Given the description of an element on the screen output the (x, y) to click on. 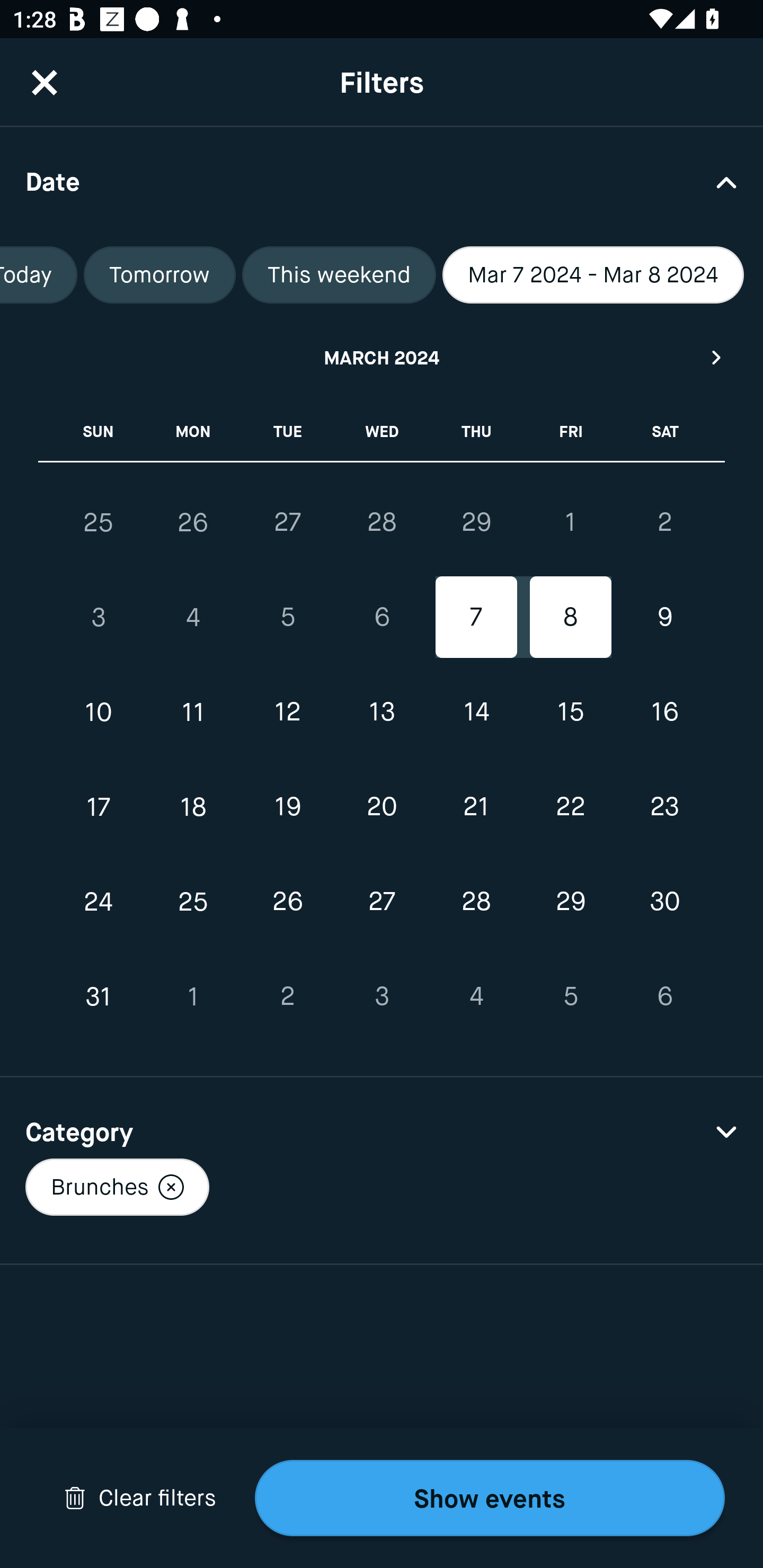
CloseButton (44, 82)
Date Drop Down Arrow (381, 181)
Tomorrow (159, 274)
This weekend (338, 274)
Mar 7 2024 - Mar 8 2024 (592, 274)
Next (717, 357)
25 (98, 522)
26 (192, 522)
27 (287, 522)
28 (381, 522)
29 (475, 522)
1 (570, 522)
2 (664, 522)
3 (98, 617)
4 (192, 617)
5 (287, 617)
6 (381, 617)
7 (475, 617)
8 (570, 617)
9 (664, 617)
10 (98, 711)
11 (192, 711)
12 (287, 711)
13 (381, 711)
14 (475, 711)
15 (570, 711)
16 (664, 711)
17 (98, 806)
18 (192, 806)
19 (287, 806)
20 (381, 806)
21 (475, 806)
22 (570, 806)
23 (664, 806)
24 (98, 901)
25 (192, 901)
26 (287, 901)
27 (381, 901)
28 (475, 901)
29 (570, 901)
30 (664, 901)
31 (98, 996)
1 (192, 996)
2 (287, 996)
3 (381, 996)
4 (475, 996)
5 (570, 996)
6 (664, 996)
Brunches Localized description (117, 1186)
Drop Down Arrow Clear filters (139, 1497)
Show events (489, 1497)
